Given the description of an element on the screen output the (x, y) to click on. 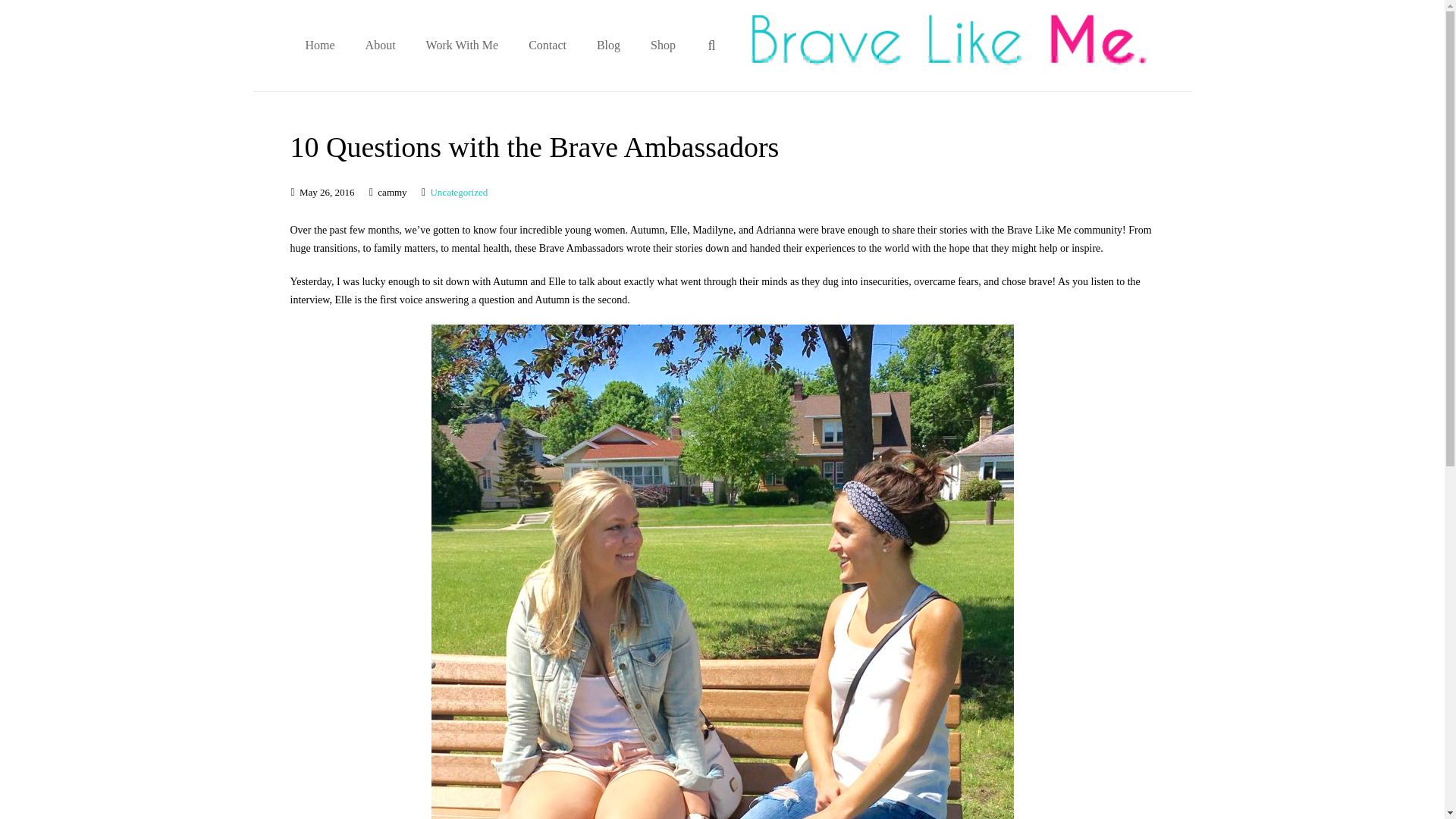
Uncategorized (458, 192)
Search (50, 15)
Work With Me (461, 45)
